Given the description of an element on the screen output the (x, y) to click on. 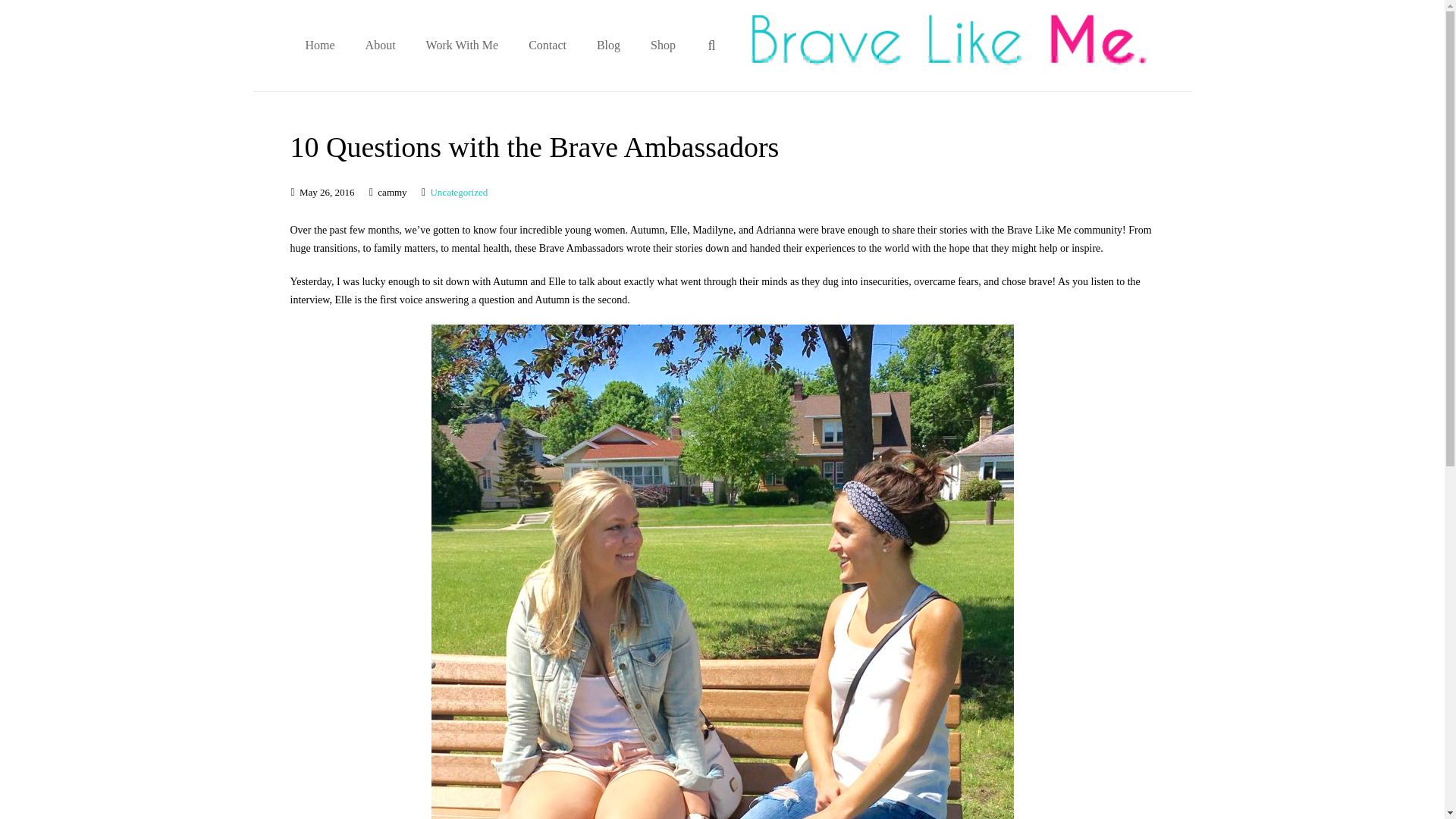
Uncategorized (458, 192)
Search (50, 15)
Work With Me (461, 45)
